Given the description of an element on the screen output the (x, y) to click on. 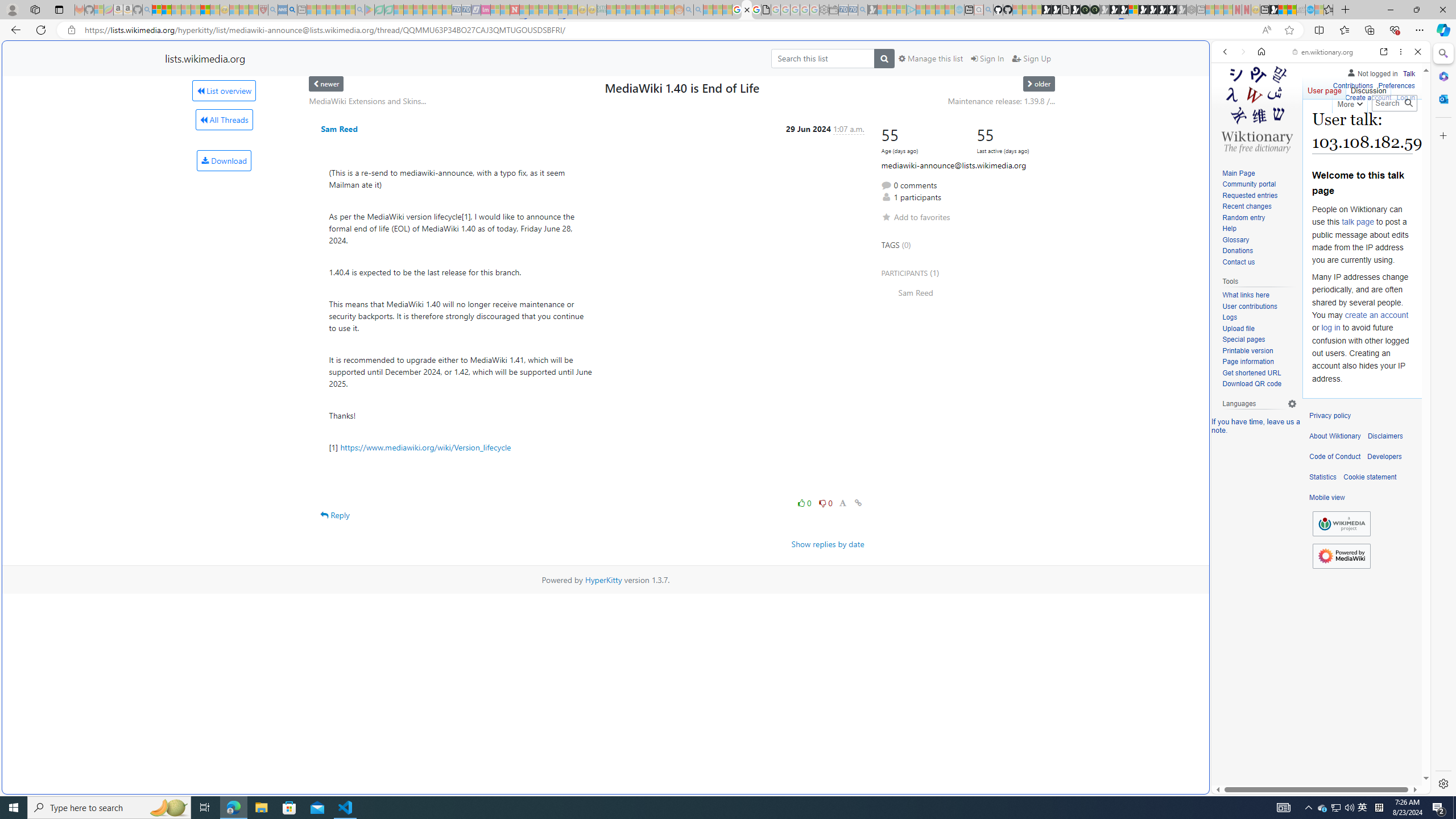
Tabs you've opened (885, 151)
Get shortened URL (1259, 373)
DITOGAMES AG Imprint - Sleeping (601, 9)
Trusted Community Engagement and Contributions | Guidelines (524, 9)
User page (1324, 87)
Search Filter, Search Tools (1350, 129)
IMAGES (1262, 130)
